Given the description of an element on the screen output the (x, y) to click on. 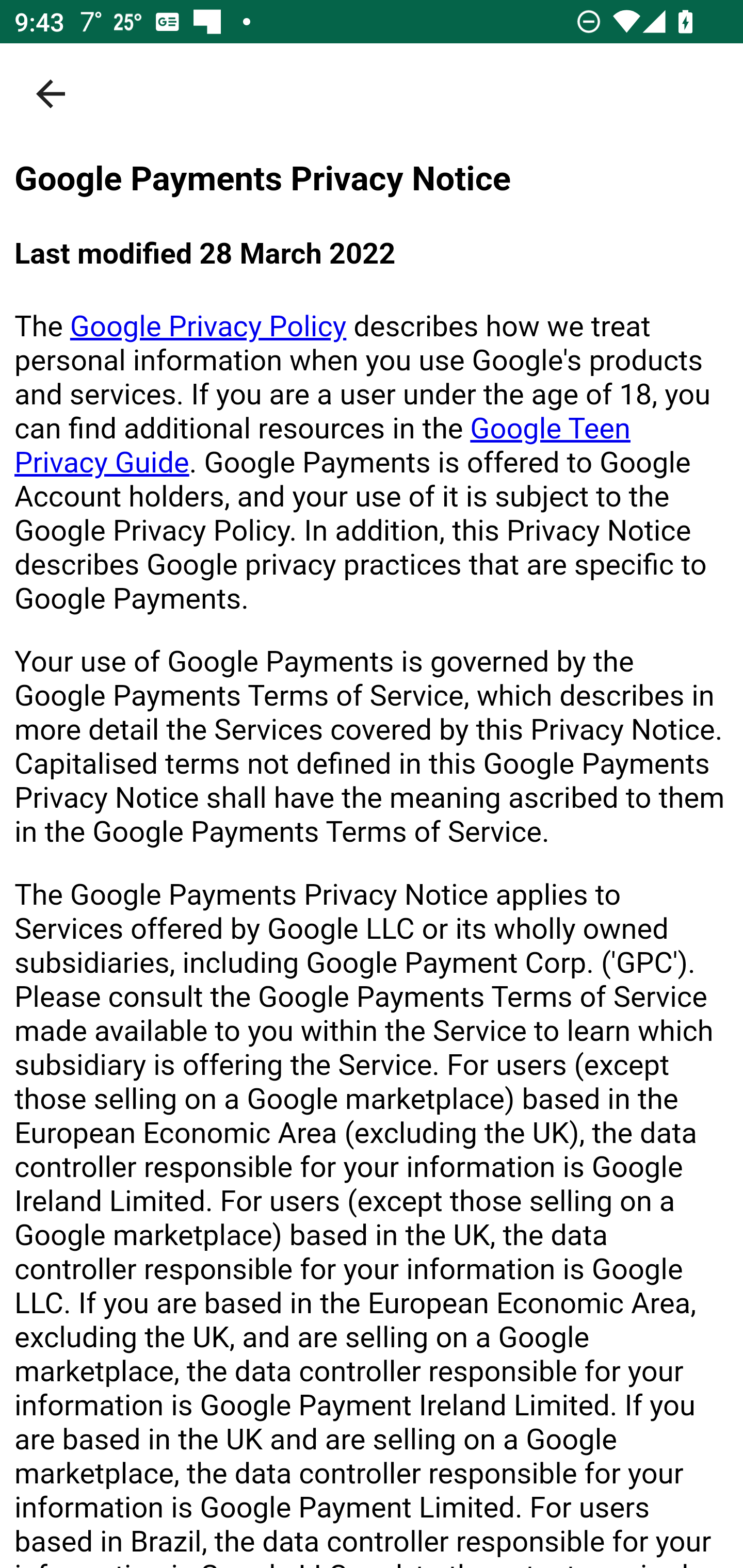
Navigate up (50, 93)
Google Privacy Policy (208, 326)
Google Teen Privacy Guide (323, 444)
